Given the description of an element on the screen output the (x, y) to click on. 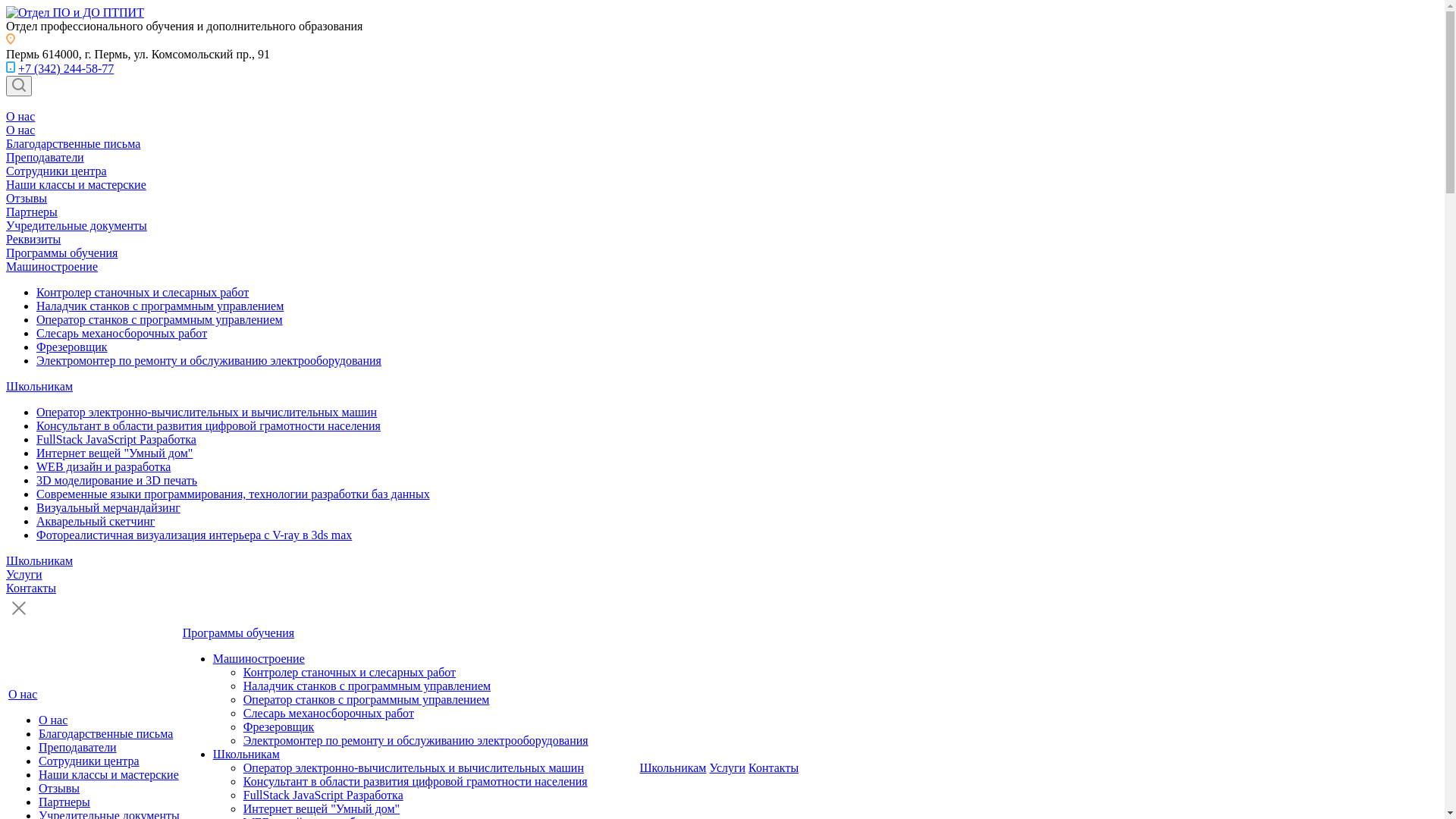
+7 (342) 244-58-77 Element type: text (65, 68)
